Given the description of an element on the screen output the (x, y) to click on. 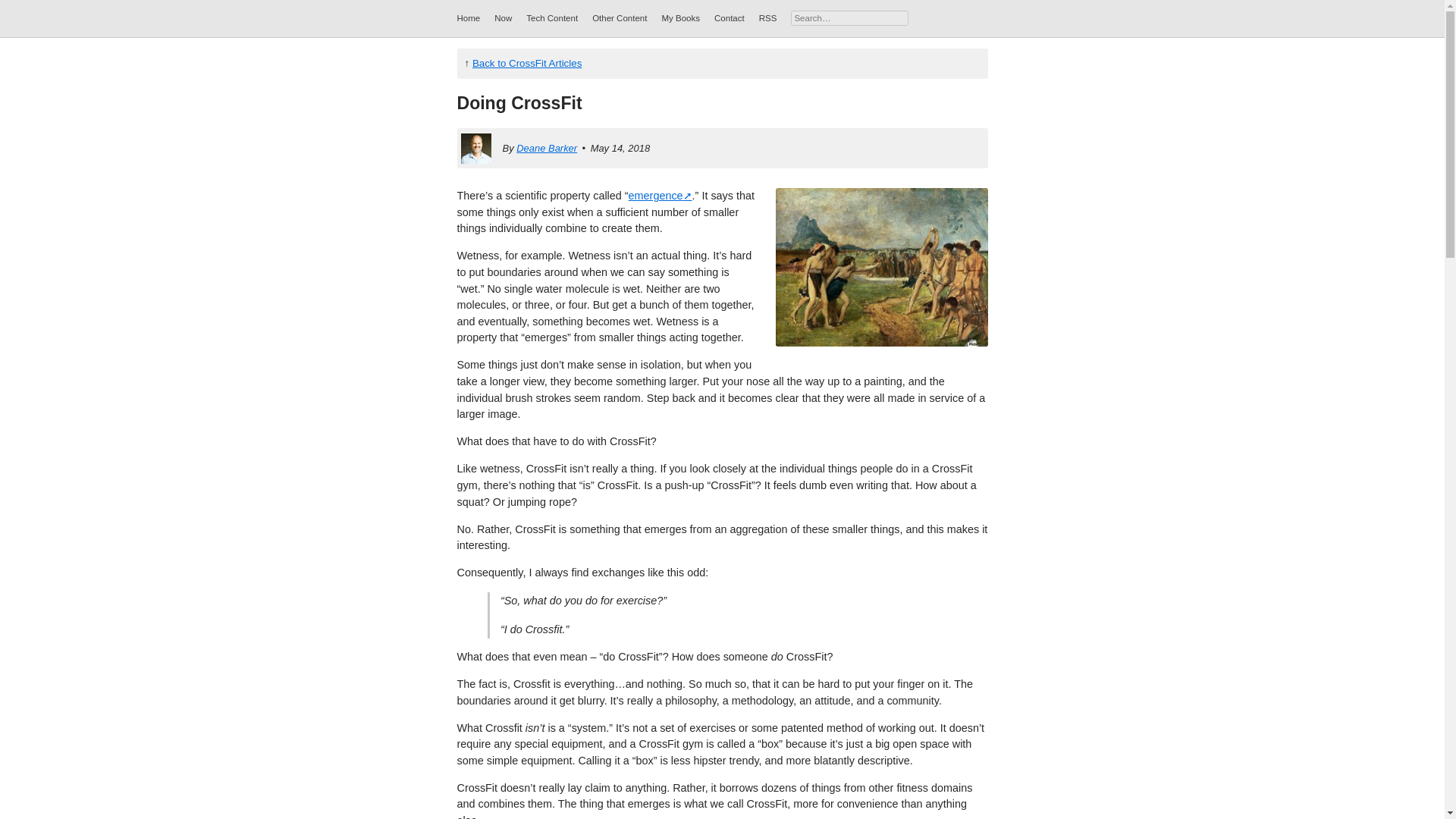
Other Content (619, 17)
RSS (767, 17)
Tech Content (551, 17)
Home (468, 17)
Now (503, 17)
Back to CrossFit Articles (525, 62)
Deane Barker (546, 147)
emergence (660, 195)
My Books (680, 17)
Contact (729, 17)
